Given the description of an element on the screen output the (x, y) to click on. 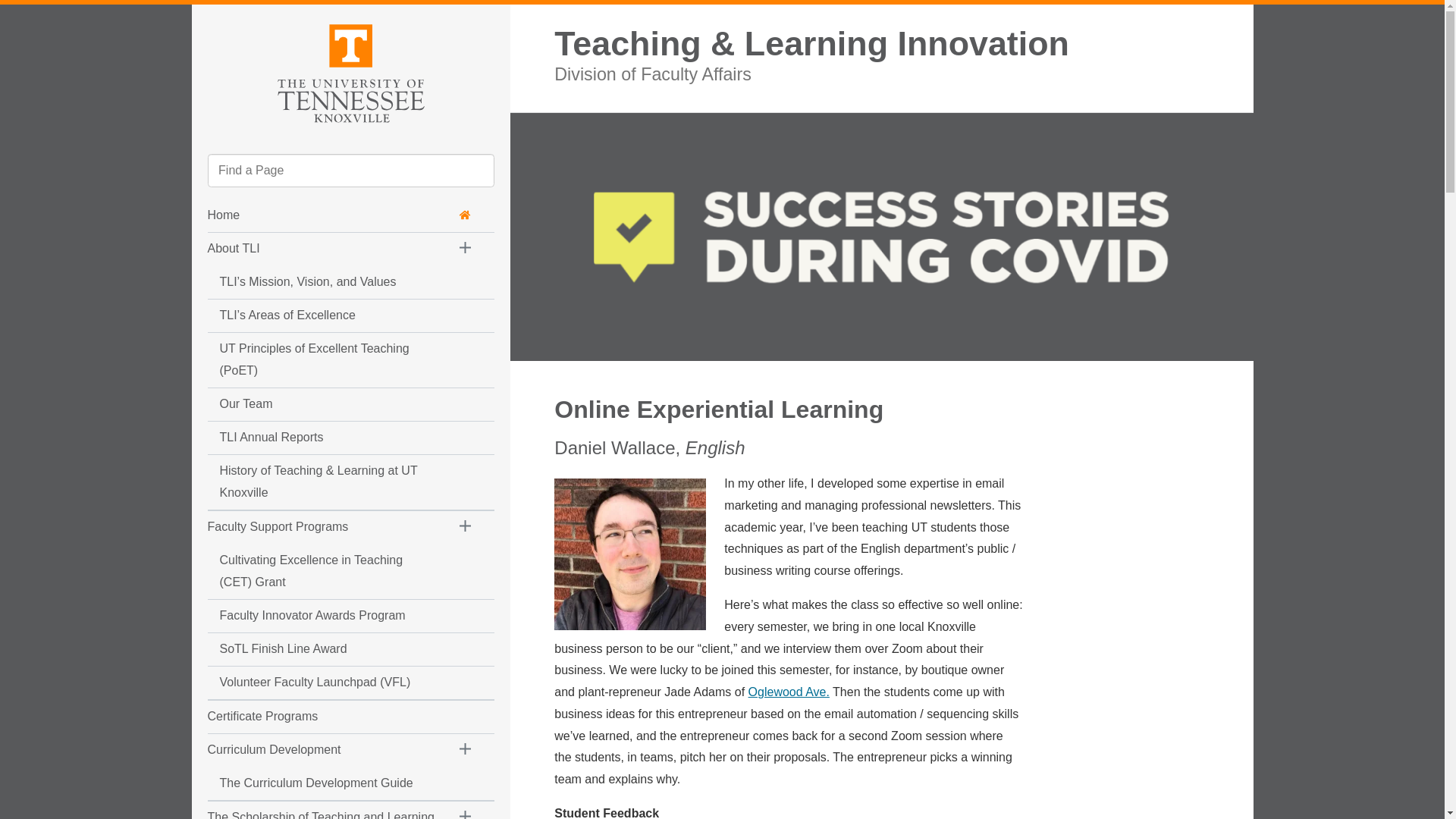
Faculty Innovator Awards Program (322, 615)
Toggle Sub Menu (465, 810)
Skip to content (204, 17)
Faculty Support Programs (322, 527)
Certificate Programs (322, 717)
Our Team (322, 404)
Toggle Sub Menu (465, 249)
The University of Tennessee, Knoxville (349, 70)
Home (339, 215)
